Given the description of an element on the screen output the (x, y) to click on. 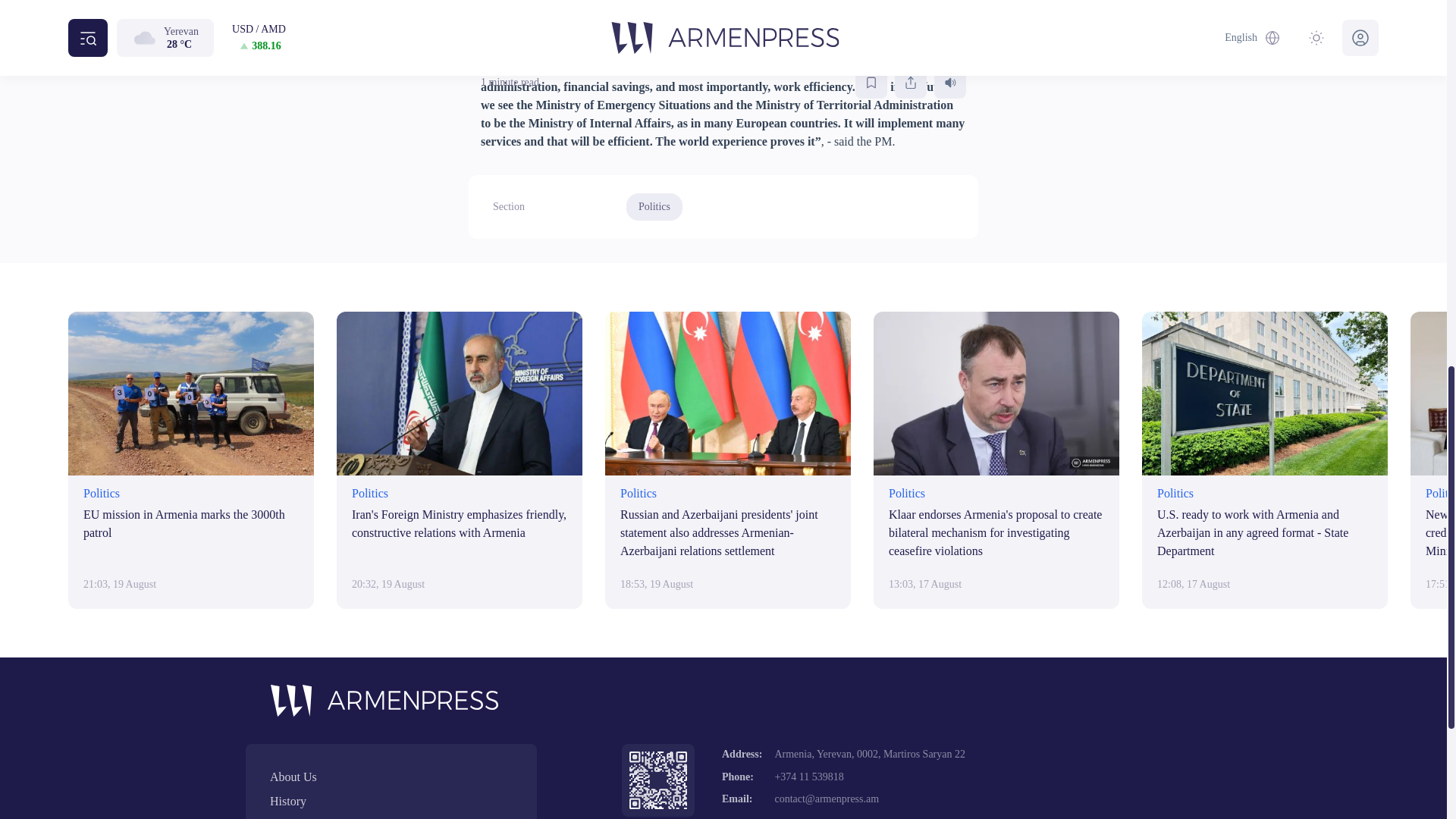
Politics (654, 206)
About Us (390, 777)
History (390, 801)
Politics (654, 206)
